Given the description of an element on the screen output the (x, y) to click on. 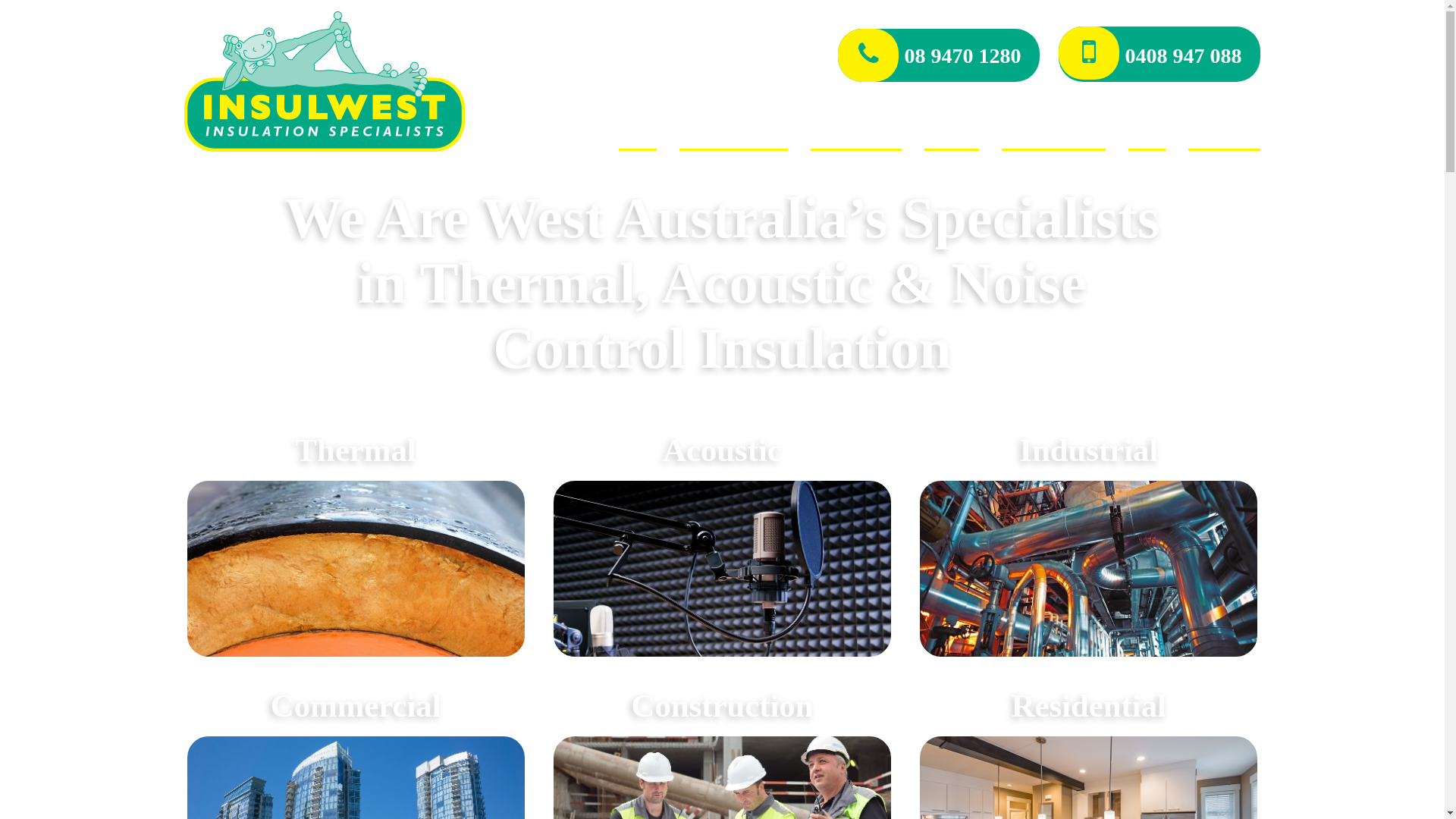
Industrial Element type: text (1088, 531)
0408 947 088 Element type: text (1159, 53)
Acoustic Element type: text (722, 531)
Thermal Element type: text (355, 531)
08 9470 1280 Element type: text (938, 54)
Home Element type: text (637, 134)
FAQS Element type: text (1146, 134)
Company Profile Element type: text (733, 134)
Application Element type: text (855, 134)
Pothole Repairs Element type: text (1053, 134)
Contact Us Element type: text (1224, 134)
Types Element type: text (951, 134)
